Given the description of an element on the screen output the (x, y) to click on. 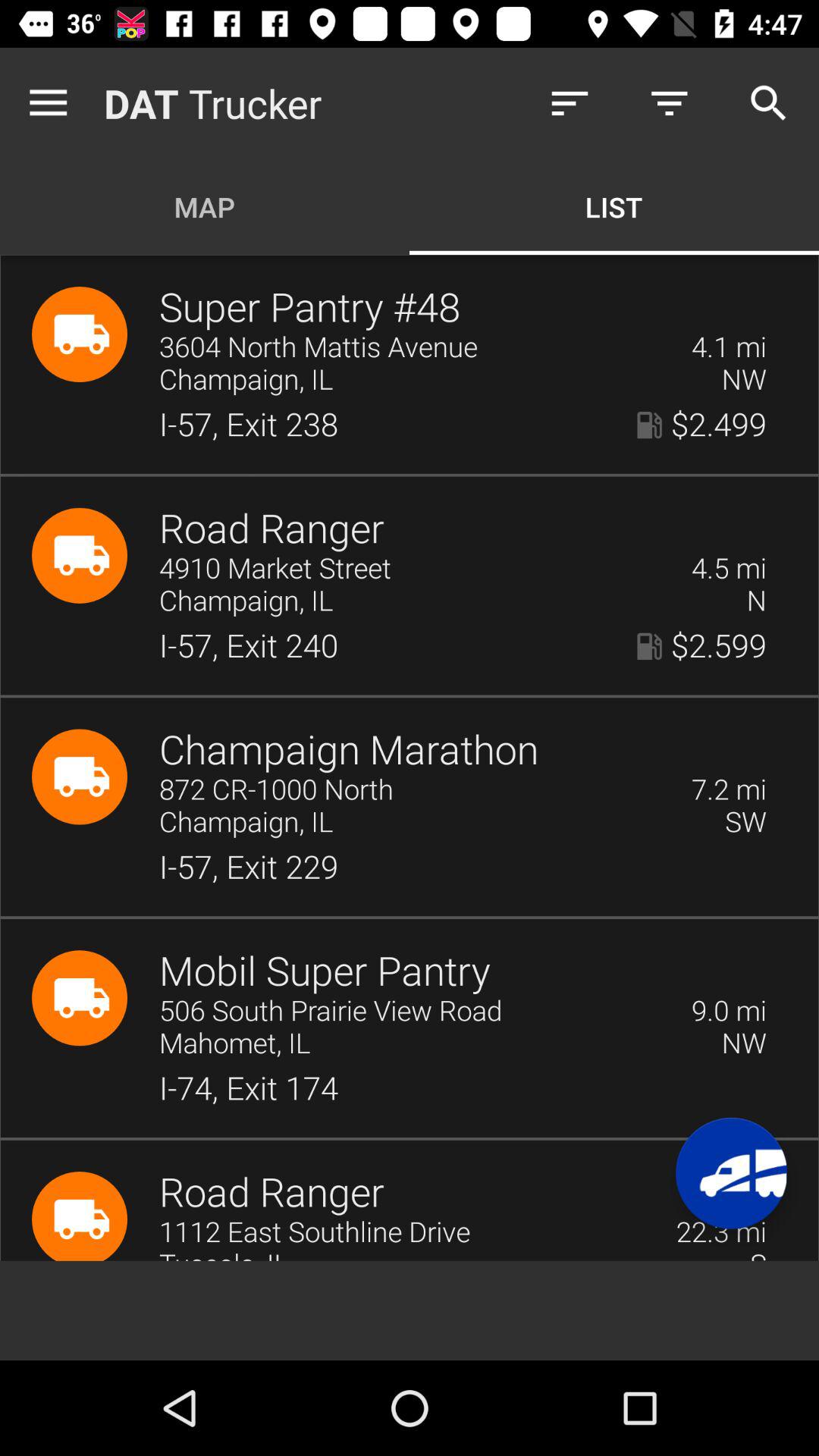
open item below the i 57 exit icon (348, 750)
